Given the description of an element on the screen output the (x, y) to click on. 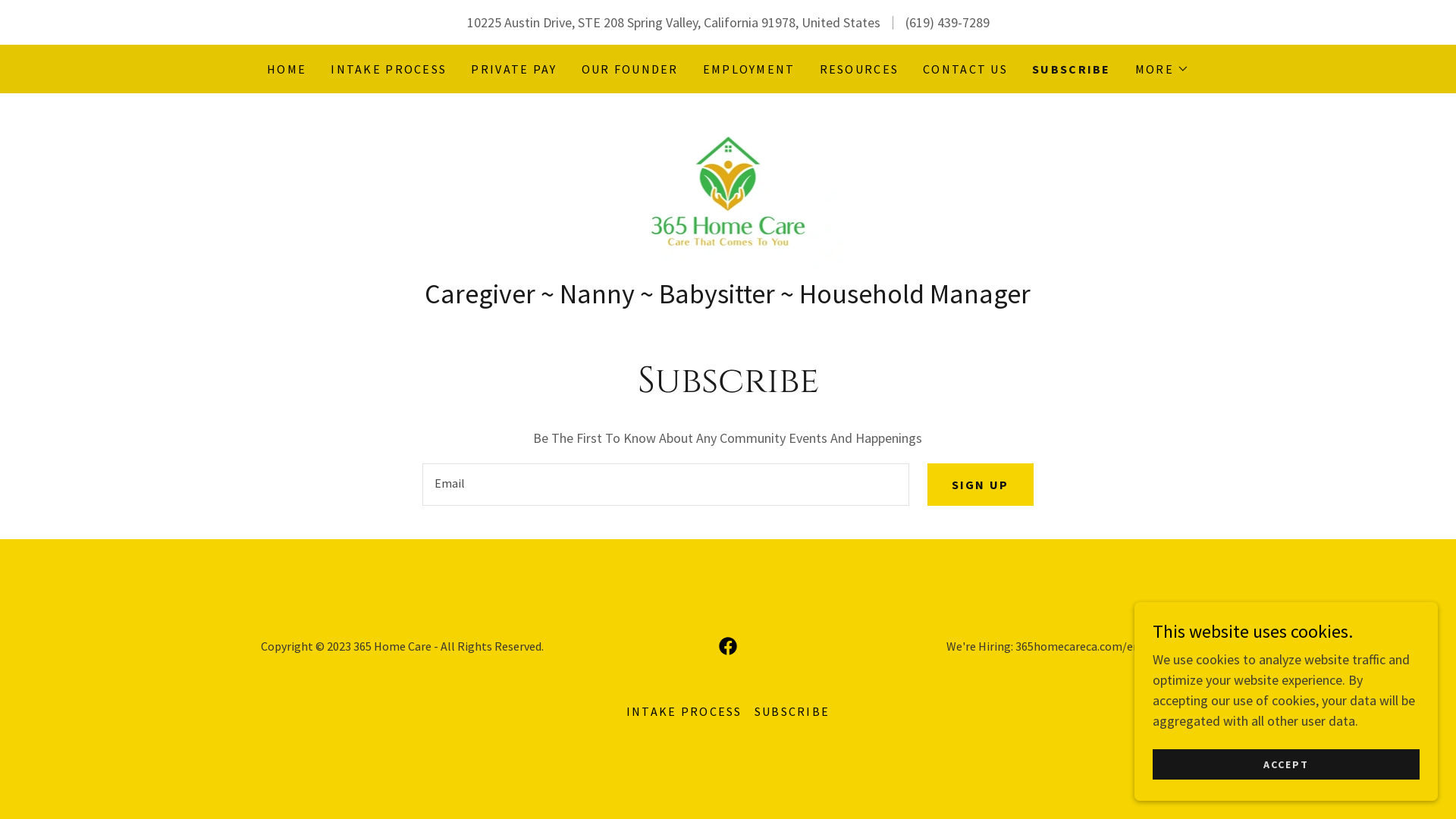
EMPLOYMENT Element type: text (749, 68)
MORE Element type: text (1162, 68)
SIGN UP Element type: text (980, 484)
(619) 439-7289 Element type: text (947, 22)
SUBSCRIBE Element type: text (1071, 68)
INTAKE PROCESS Element type: text (684, 710)
INTAKE PROCESS Element type: text (388, 68)
OUR FOUNDER Element type: text (630, 68)
CONTACT US Element type: text (965, 68)
RESOURCES Element type: text (859, 68)
ACCEPT Element type: text (1285, 764)
HOME Element type: text (286, 68)
365 Home Care Element type: hover (727, 188)
PRIVATE PAY Element type: text (513, 68)
SUBSCRIBE Element type: text (792, 710)
